Given the description of an element on the screen output the (x, y) to click on. 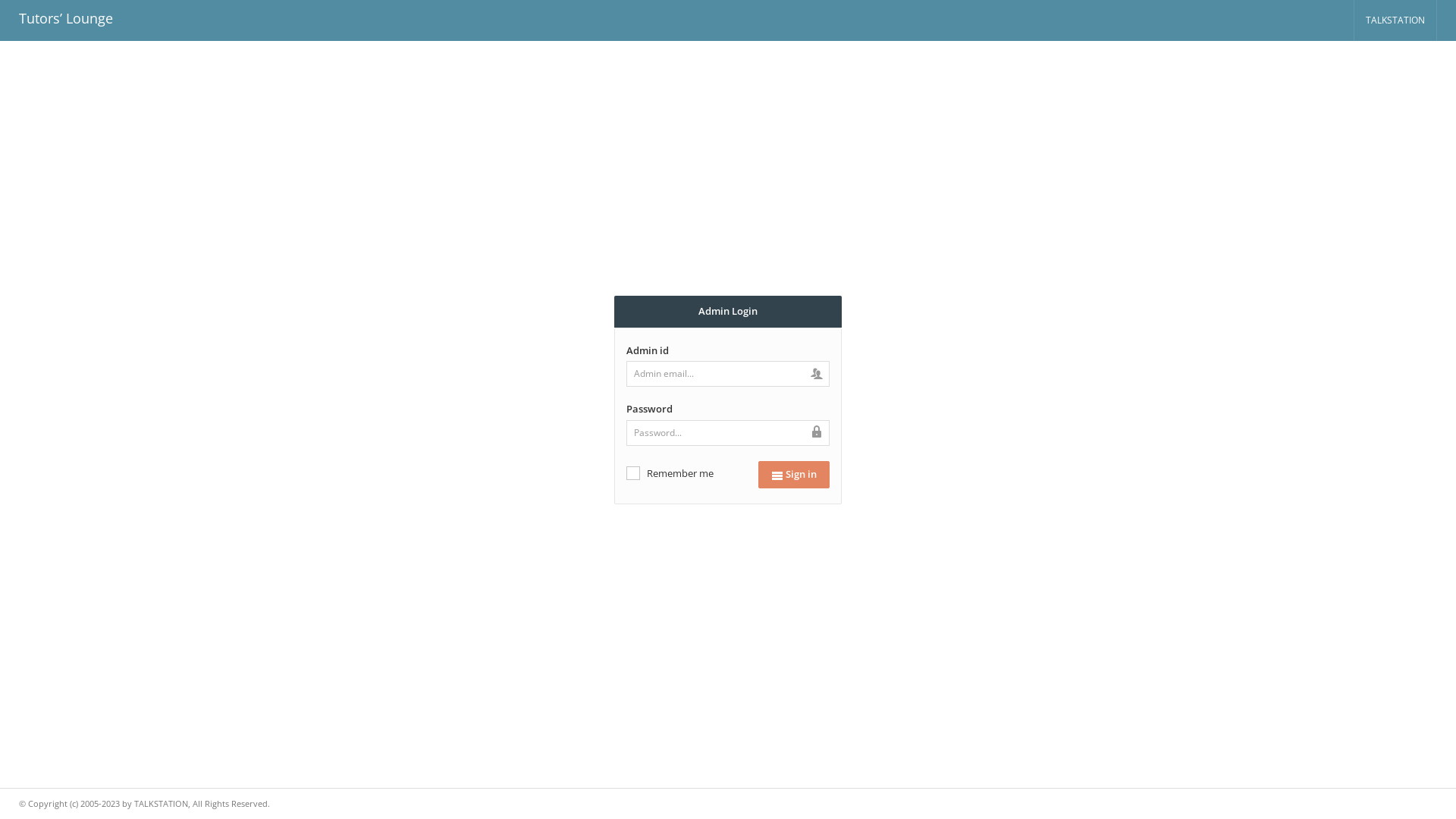
Sign in Element type: text (793, 474)
TALKSTATION Element type: text (1395, 20)
